Given the description of an element on the screen output the (x, y) to click on. 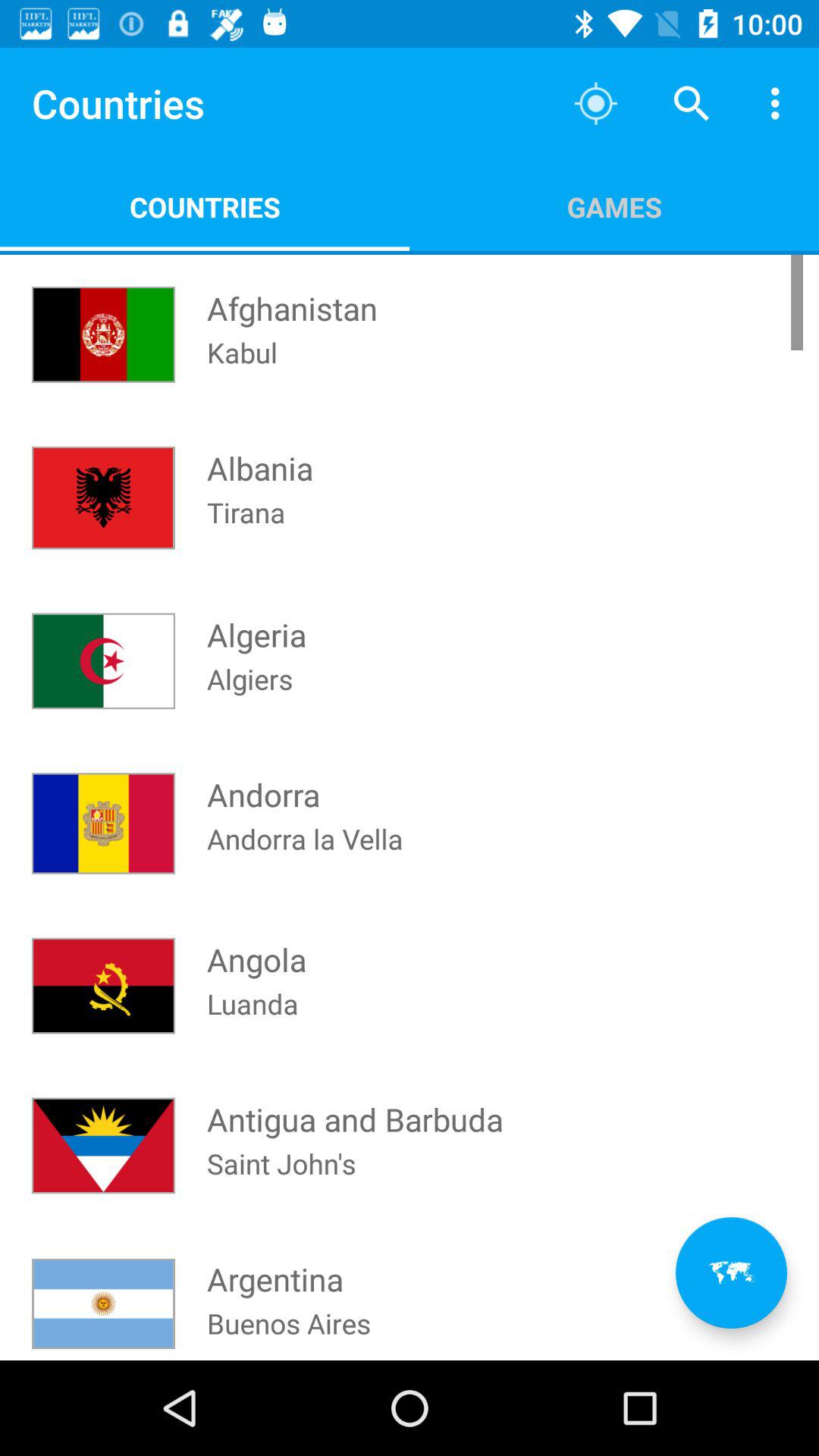
tap icon above antigua and barbuda icon (252, 1023)
